Given the description of an element on the screen output the (x, y) to click on. 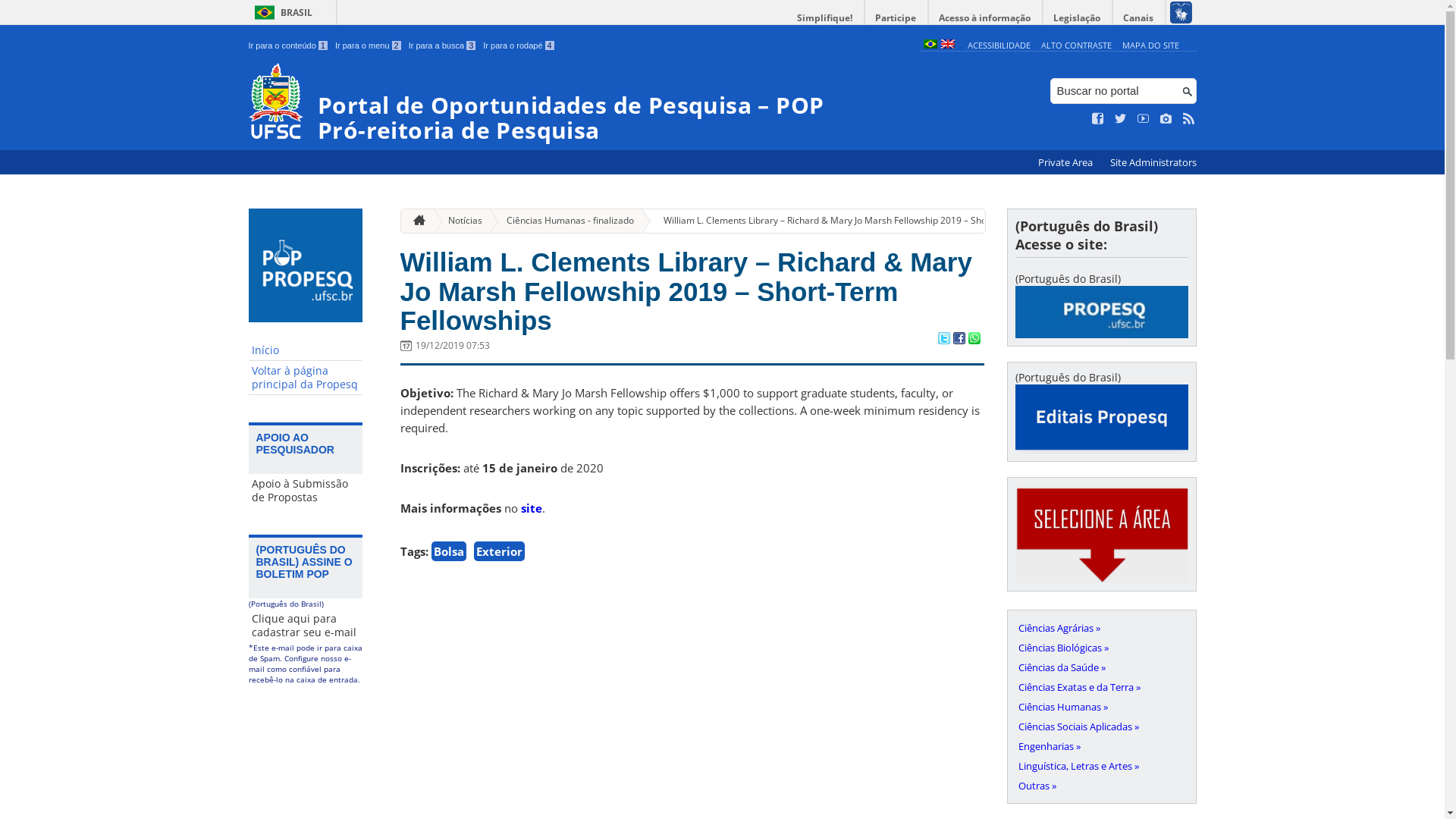
Ir para a busca 3 Element type: text (442, 45)
ACESSIBILIDADE Element type: text (998, 44)
Participe Element type: text (895, 18)
Clique aqui para cadastrar seu e-mail Element type: text (305, 625)
English (en) Element type: hover (946, 44)
Veja no Instagram Element type: hover (1166, 118)
Exterior Element type: text (498, 551)
BRASIL Element type: text (280, 12)
Siga no Twitter Element type: hover (1120, 118)
Canais Element type: text (1138, 18)
MAPA DO SITE Element type: text (1150, 44)
Bolsa Element type: text (447, 551)
Compartilhar no Facebook Element type: hover (958, 339)
ALTO CONTRASTE Element type: text (1076, 44)
Curta no Facebook Element type: hover (1098, 118)
Simplifique! Element type: text (825, 18)
site Element type: text (530, 507)
Site Administrators Element type: text (1153, 162)
Compartilhar no WhatsApp Element type: hover (973, 339)
Private Area Element type: text (1065, 162)
Compartilhar no Twitter Element type: hover (943, 339)
Ir para o menu 2 Element type: text (368, 45)
